Given the description of an element on the screen output the (x, y) to click on. 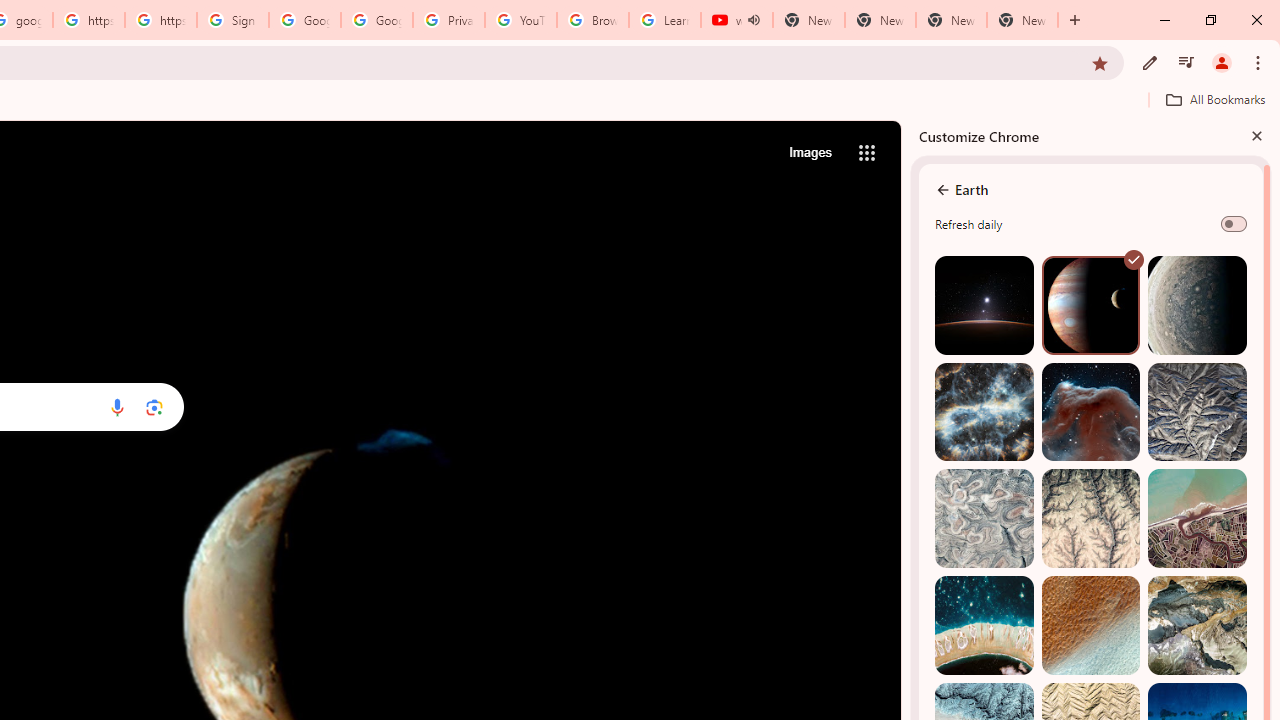
https://scholar.google.com/ (88, 20)
Zermatt, Wallis, Switzerland (1197, 625)
Sanaag, Somalia (1090, 518)
Mute tab (753, 20)
Sign in - Google Accounts (232, 20)
Nanggroe Aceh Darussalam, Indonesia (1197, 518)
Search for Images  (810, 152)
